Given the description of an element on the screen output the (x, y) to click on. 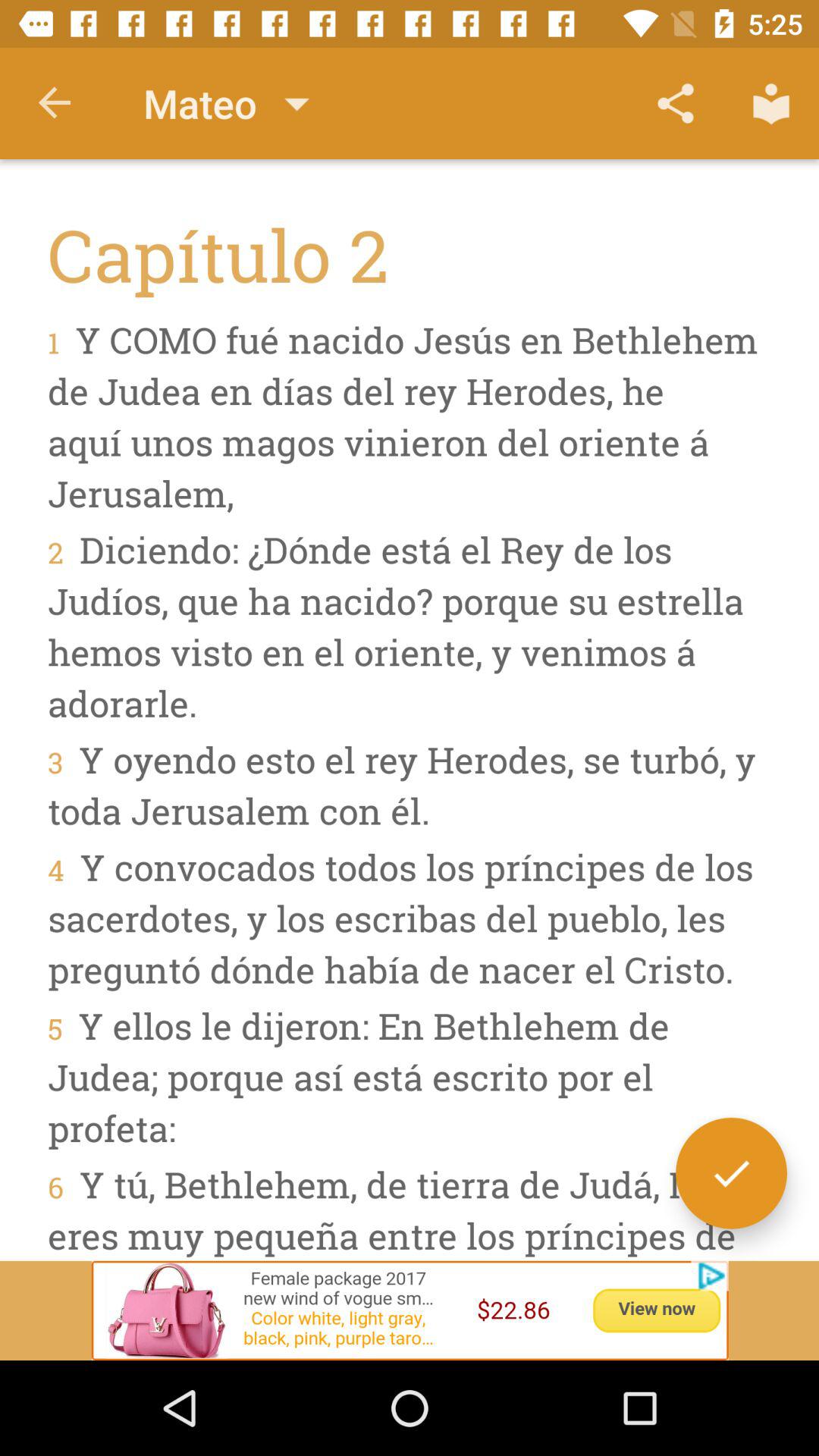
press icon to the left of mateo item (55, 103)
